Given the description of an element on the screen output the (x, y) to click on. 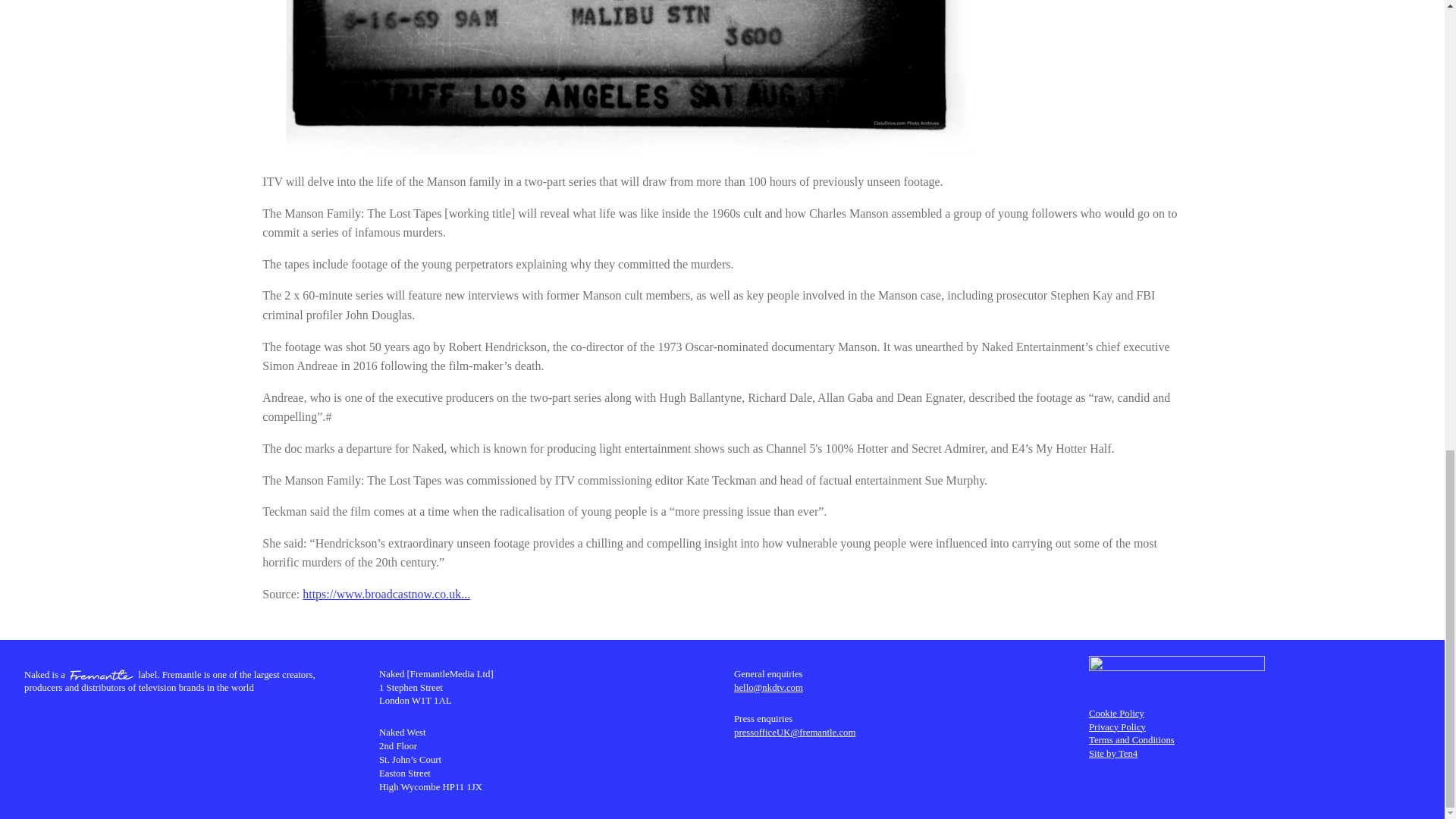
Terms and Conditions (1131, 739)
Site by Ten4 (1113, 753)
Privacy Policy (1117, 726)
Cookie Policy (1116, 713)
